Given the description of an element on the screen output the (x, y) to click on. 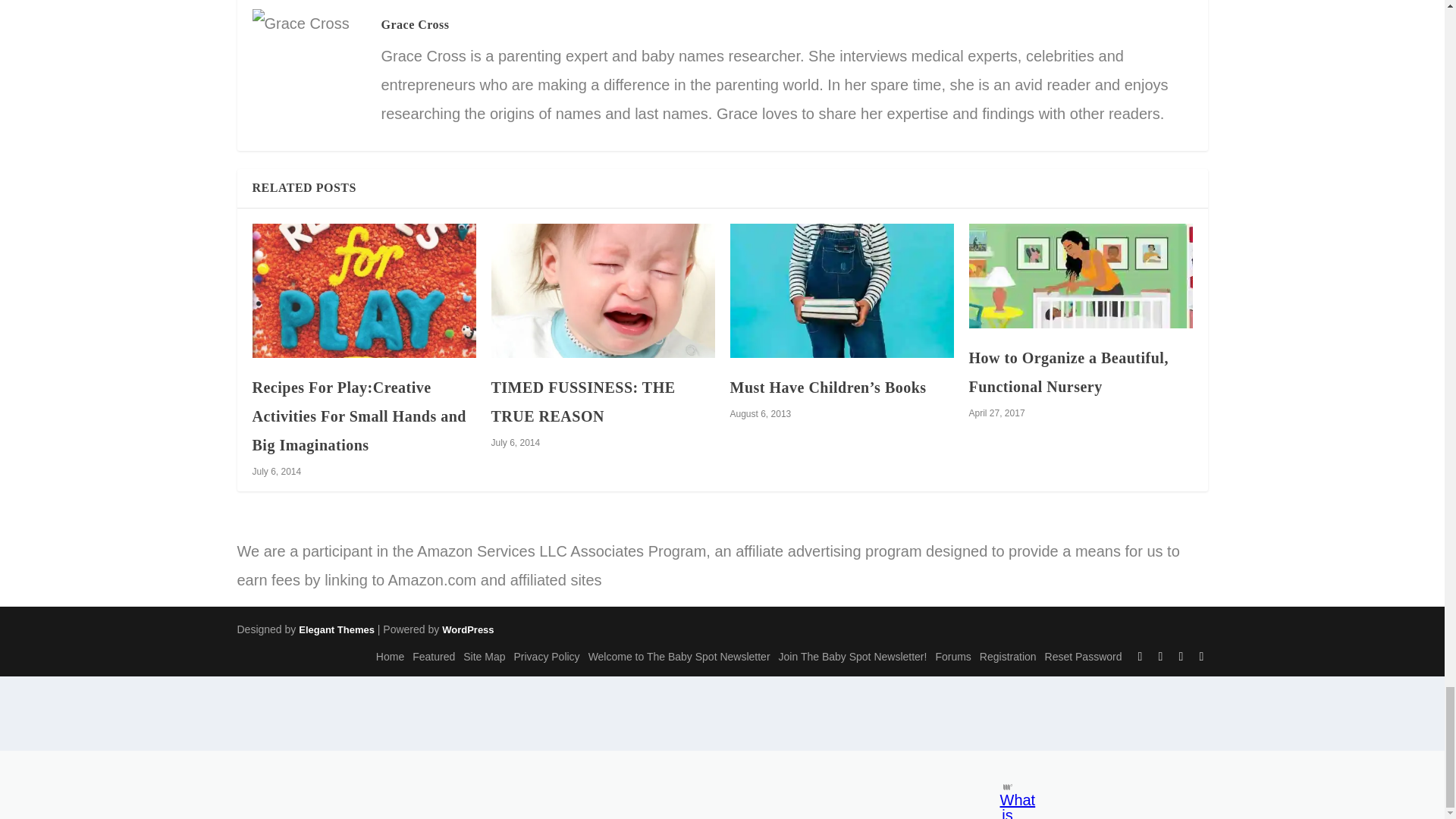
View all posts by Grace Cross (414, 24)
